Given the description of an element on the screen output the (x, y) to click on. 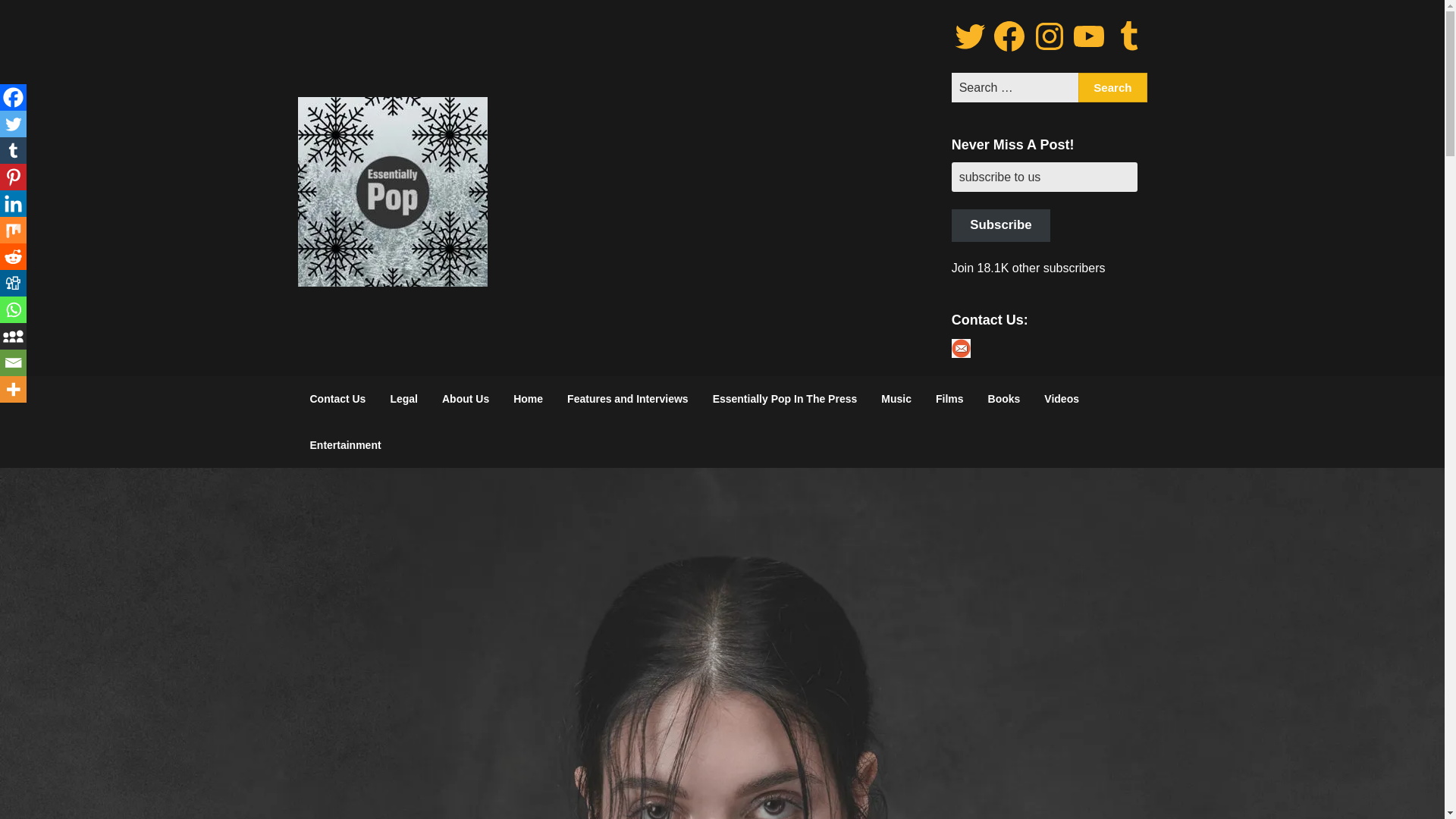
Whatsapp (13, 309)
Search (1112, 87)
Search (1112, 87)
Subscribe (1000, 225)
Contact Us (337, 398)
Essentially Pop In The Press (784, 398)
Mix (13, 230)
Features and Interviews (627, 398)
Tumblr (13, 150)
Films (949, 398)
